Given the description of an element on the screen output the (x, y) to click on. 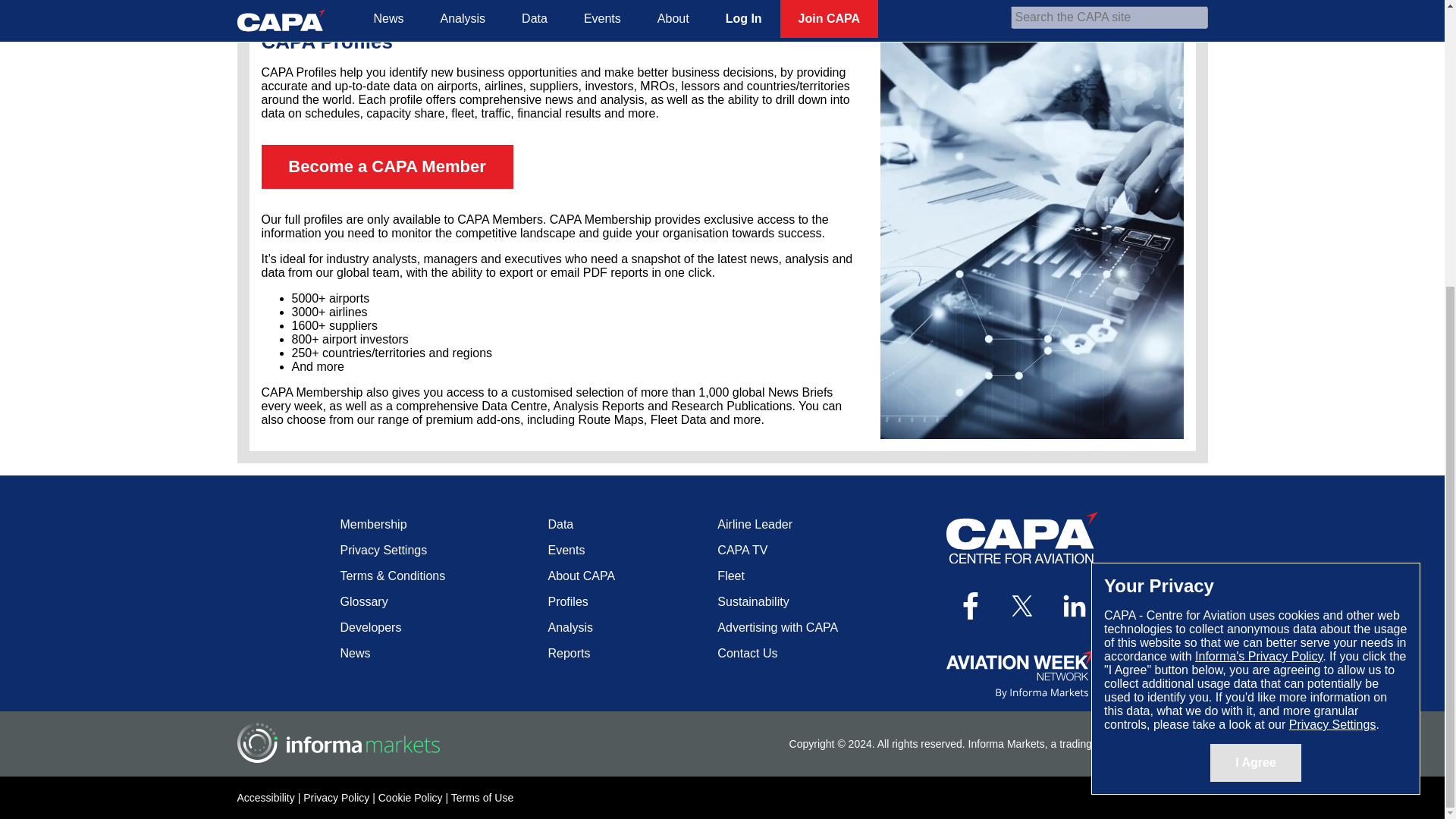
CAPA on LinkedIn (1075, 606)
CAPA on Facebook (970, 606)
Become a CAPA Member (386, 166)
Informa's Privacy Policy (1258, 223)
CAPA is part of the Aviation Week Network (1021, 673)
CAPA on Twitter (1022, 606)
I Agree (1255, 330)
CAPA - Centre for Aviation (1021, 537)
CAPA is part of the Aviation Week Network (1021, 673)
Privacy Settings (1331, 291)
